Given the description of an element on the screen output the (x, y) to click on. 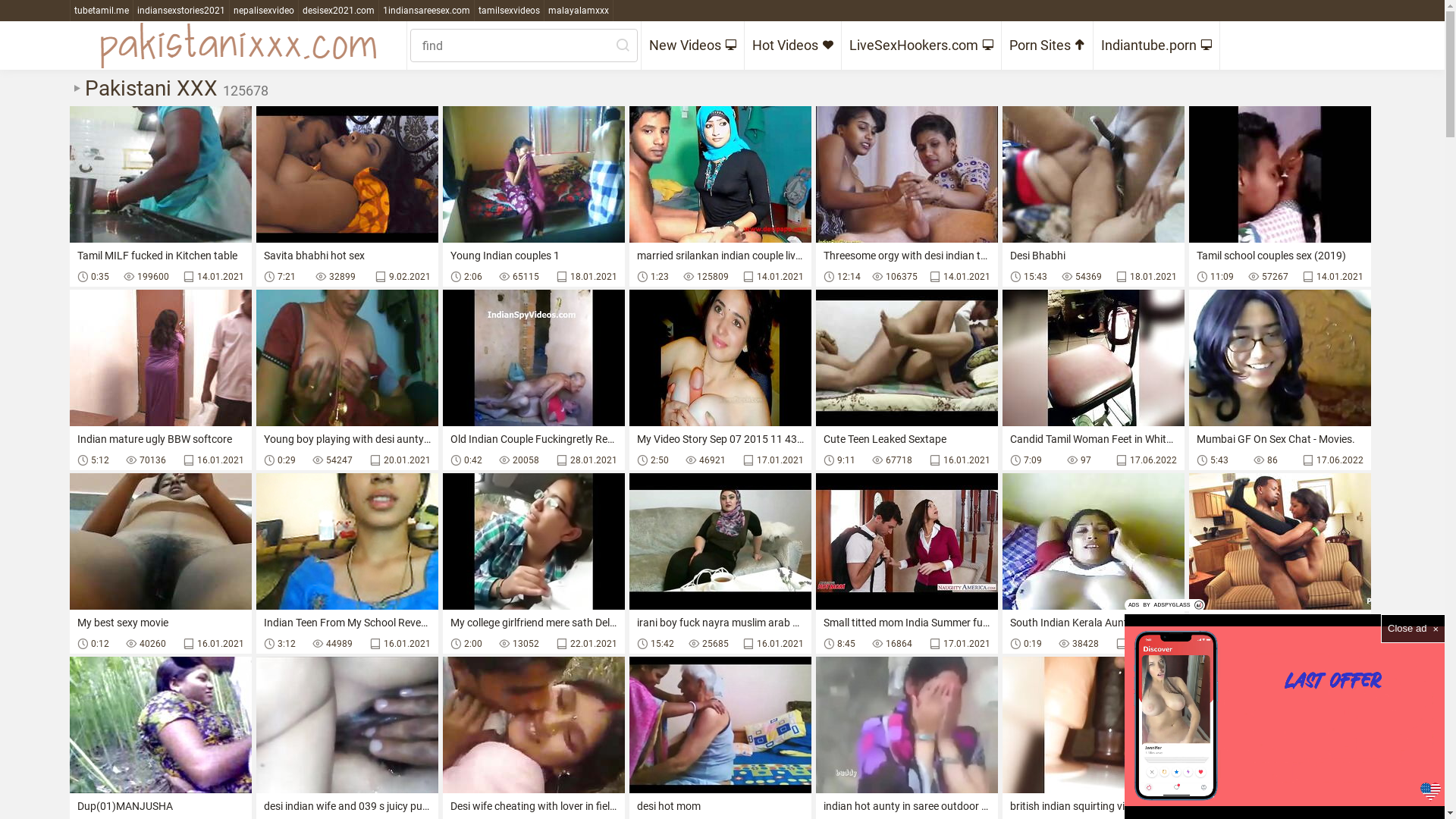
ADS BY ADSPYGLASS Element type: text (1164, 605)
Tamil MILF fucked in Kitchen table
0:35
199600
14.01.2021 Element type: text (160, 196)
My best sexy movie
0:12
40260
16.01.2021 Element type: text (160, 563)
Savita bhabhi hot sex
7:21
32899
9.02.2021 Element type: text (347, 196)
irani boy fuck nayra muslim arab girl
15:42
25685
16.01.2021 Element type: text (720, 563)
Young Indian couples 1
2:06
65115
18.01.2021 Element type: text (533, 196)
indiansexstories2021 Element type: text (181, 10)
Tamil school couples sex (2019)
11:09
57267
14.01.2021 Element type: text (1280, 196)
Porn Sites Element type: text (1046, 45)
Indiantube.porn Element type: text (1156, 45)
My Video Story Sep 07 2015 11 43 06
2:50
46921
17.01.2021 Element type: text (720, 379)
Cute Teen Leaked Sextape
9:11
67718
16.01.2021 Element type: text (906, 379)
Indian mature ugly BBW softcore
5:12
70136
16.01.2021 Element type: text (160, 379)
nepalisexvideo Element type: text (263, 10)
Desi Bhabhi
15:43
54369
18.01.2021 Element type: text (1093, 196)
Mumbai GF On Sex Chat - Movies.
5:43
86
17.06.2022 Element type: text (1280, 379)
Hot Videos Element type: text (792, 45)
Small titted mom India Summer fucking
8:45
16864
17.01.2021 Element type: text (906, 563)
New Videos Element type: text (692, 45)
tamilsexvideos Element type: text (509, 10)
1indiansareesex.com Element type: text (426, 10)
Indian teen
19:43
33411
16.01.2021 Element type: text (1280, 563)
LiveSexHookers.com Element type: text (921, 45)
tubetamil.me Element type: text (100, 10)
malayalamxxx Element type: text (578, 10)
desisex2021.com Element type: text (338, 10)
